Given the description of an element on the screen output the (x, y) to click on. 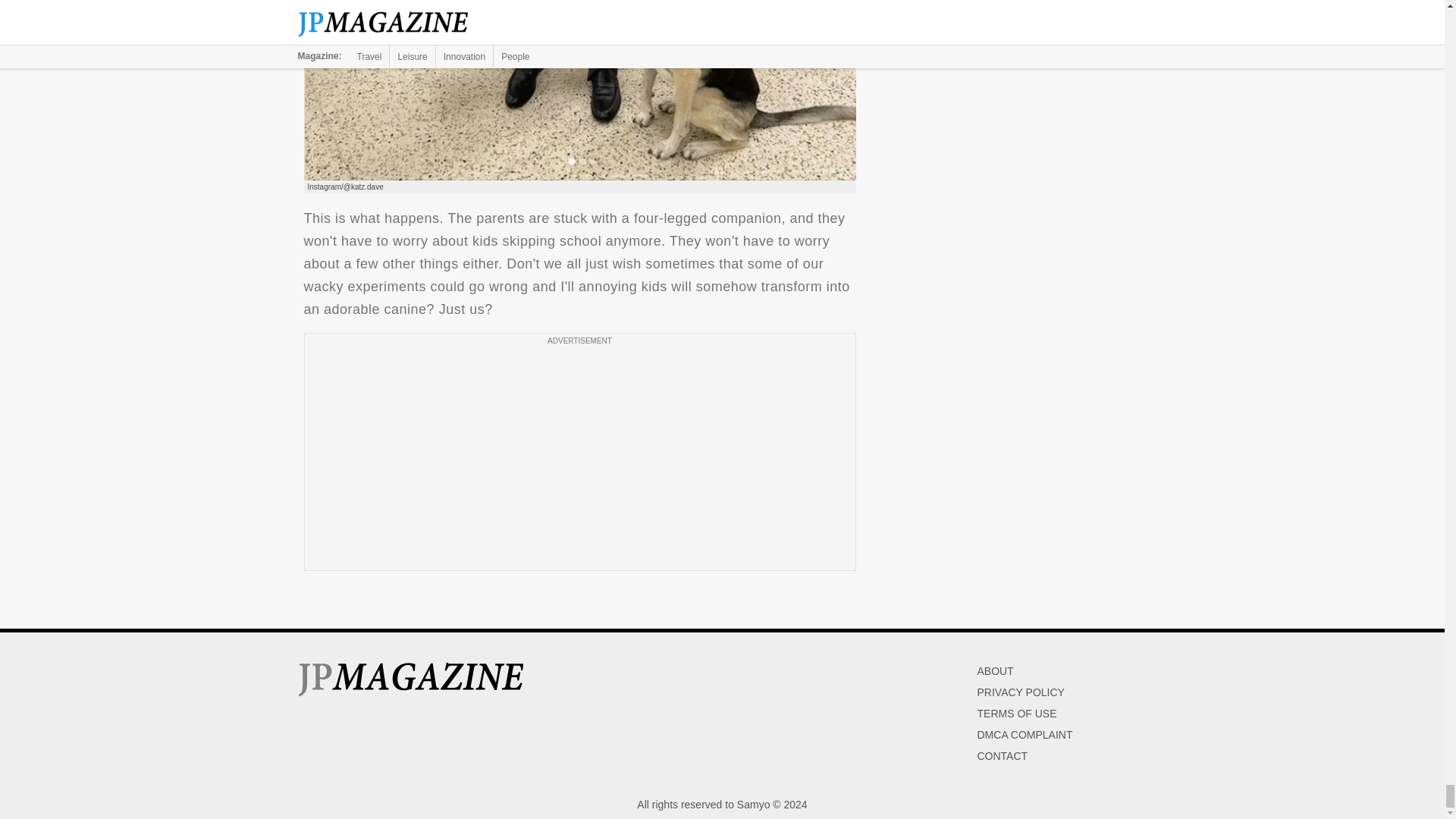
TERMS OF USE (1016, 713)
CONTACT (1001, 756)
PRIVACY POLICY (1020, 692)
DMCA COMPLAINT (1023, 734)
ABOUT (994, 671)
